Given the description of an element on the screen output the (x, y) to click on. 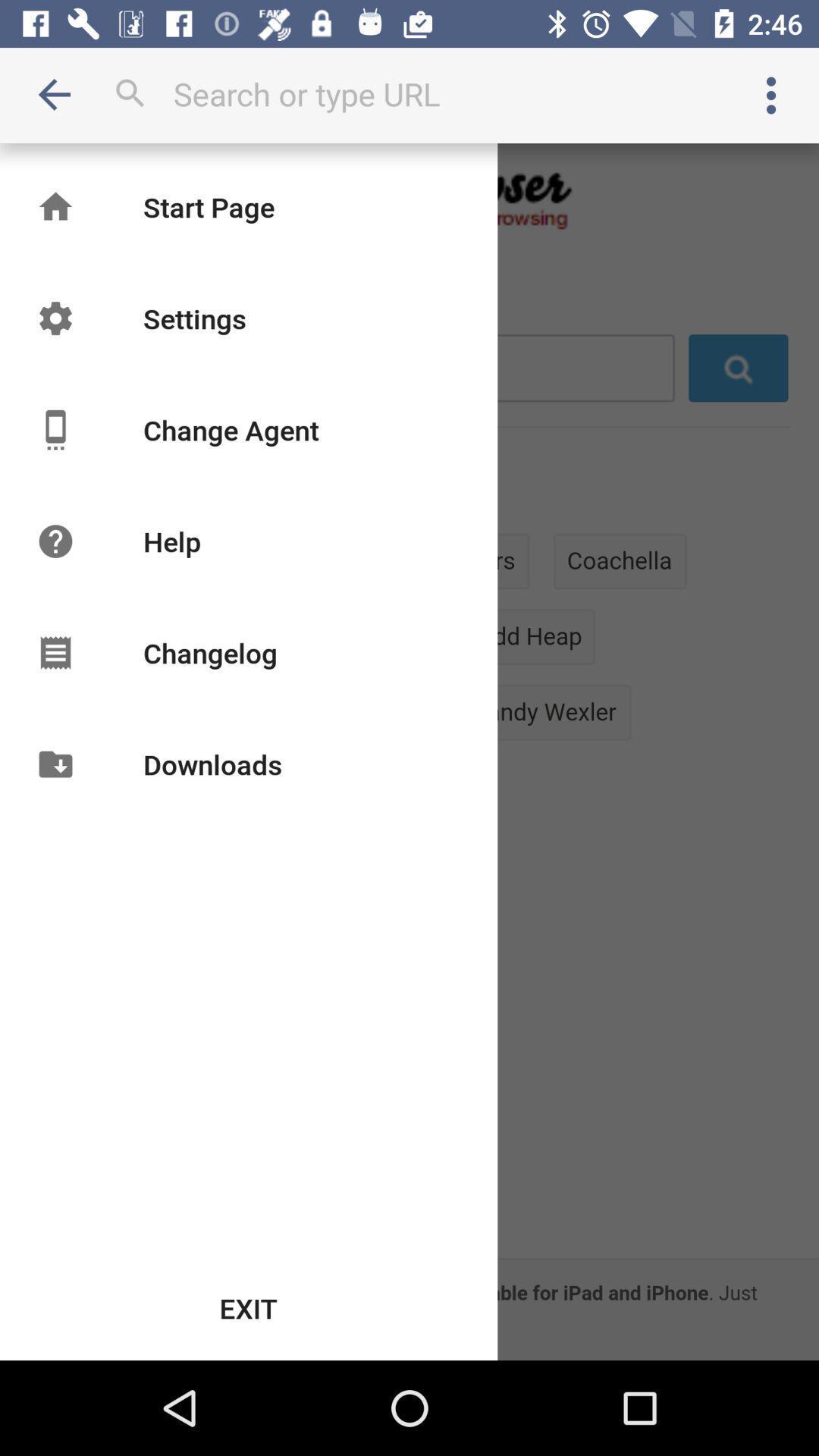
type url (409, 94)
